Given the description of an element on the screen output the (x, y) to click on. 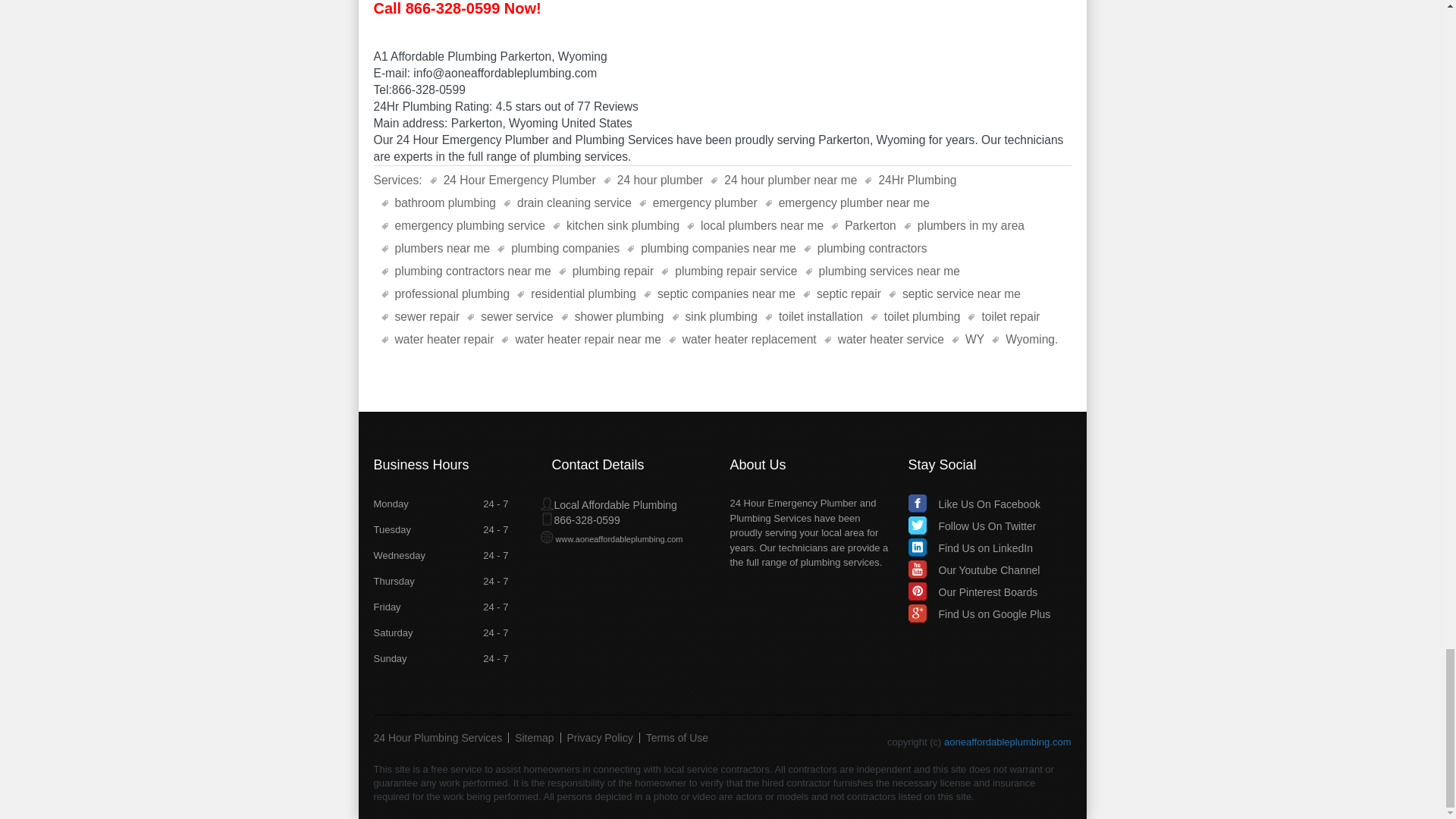
plumbing contractors (865, 248)
24 hour plumber near me (783, 180)
kitchen sink plumbing (616, 225)
Call 866-328-0599 Now! (456, 8)
residential plumbing (576, 293)
Parkerton (863, 225)
plumbing services near me (882, 271)
plumbing companies (558, 248)
plumbing contractors near me (465, 271)
24 hour plumber (653, 180)
